Given the description of an element on the screen output the (x, y) to click on. 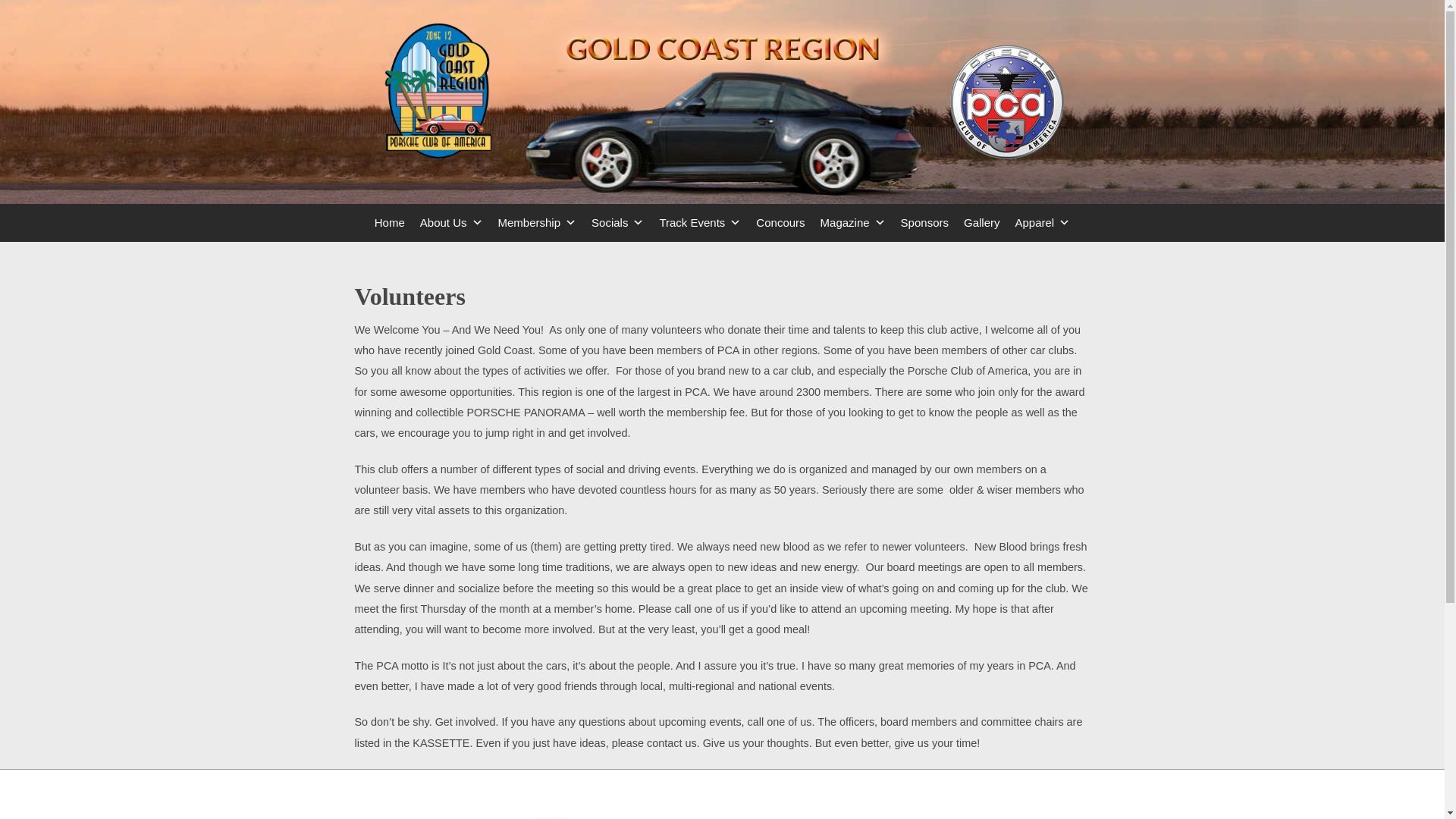
Track Events (699, 222)
Concours (780, 222)
Home (389, 222)
Membership (536, 222)
Magazine (852, 222)
Sponsors (924, 222)
Socials (616, 222)
About Us (451, 222)
